Given the description of an element on the screen output the (x, y) to click on. 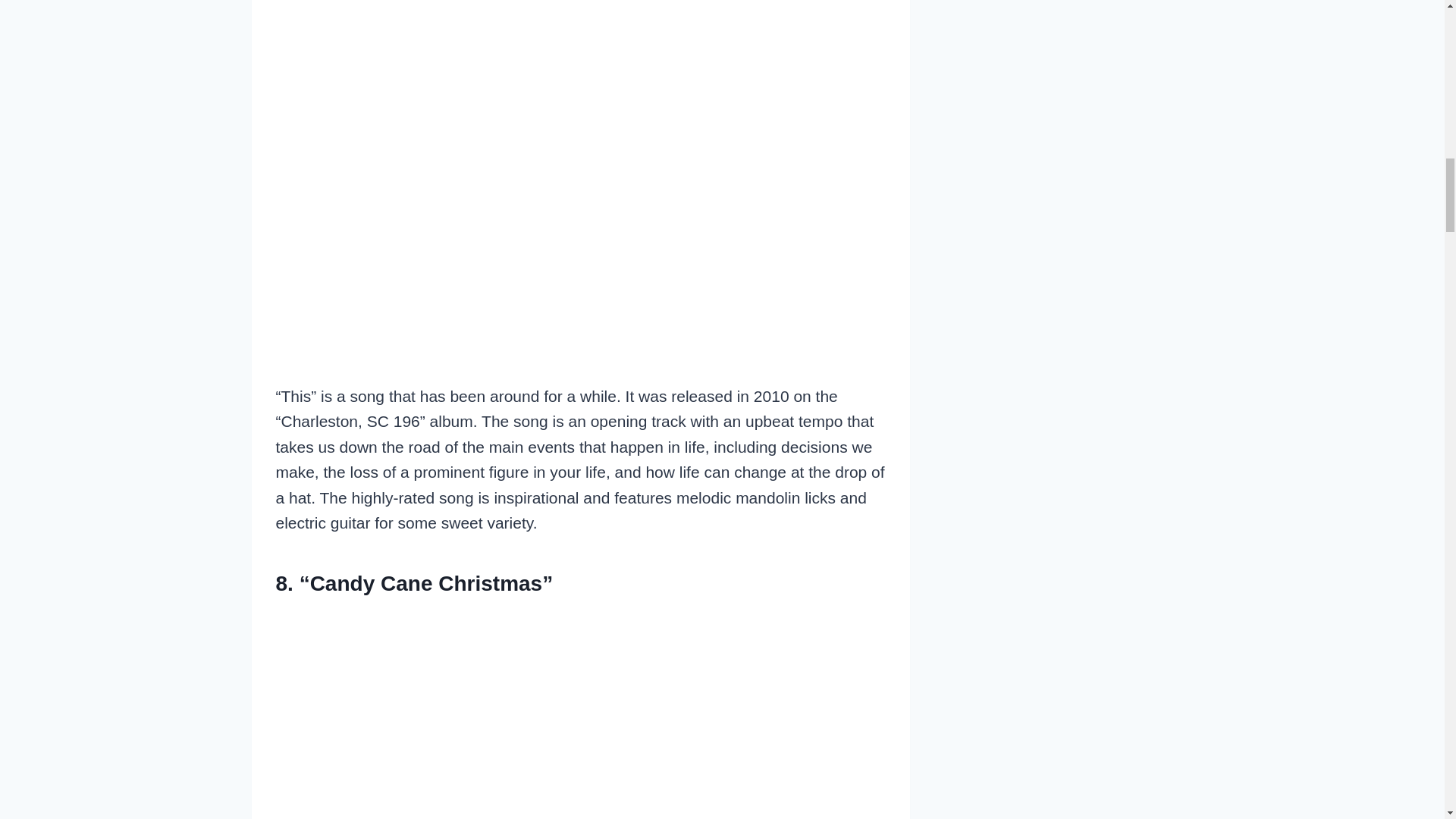
Candy Cane Christmas (581, 714)
